Given the description of an element on the screen output the (x, y) to click on. 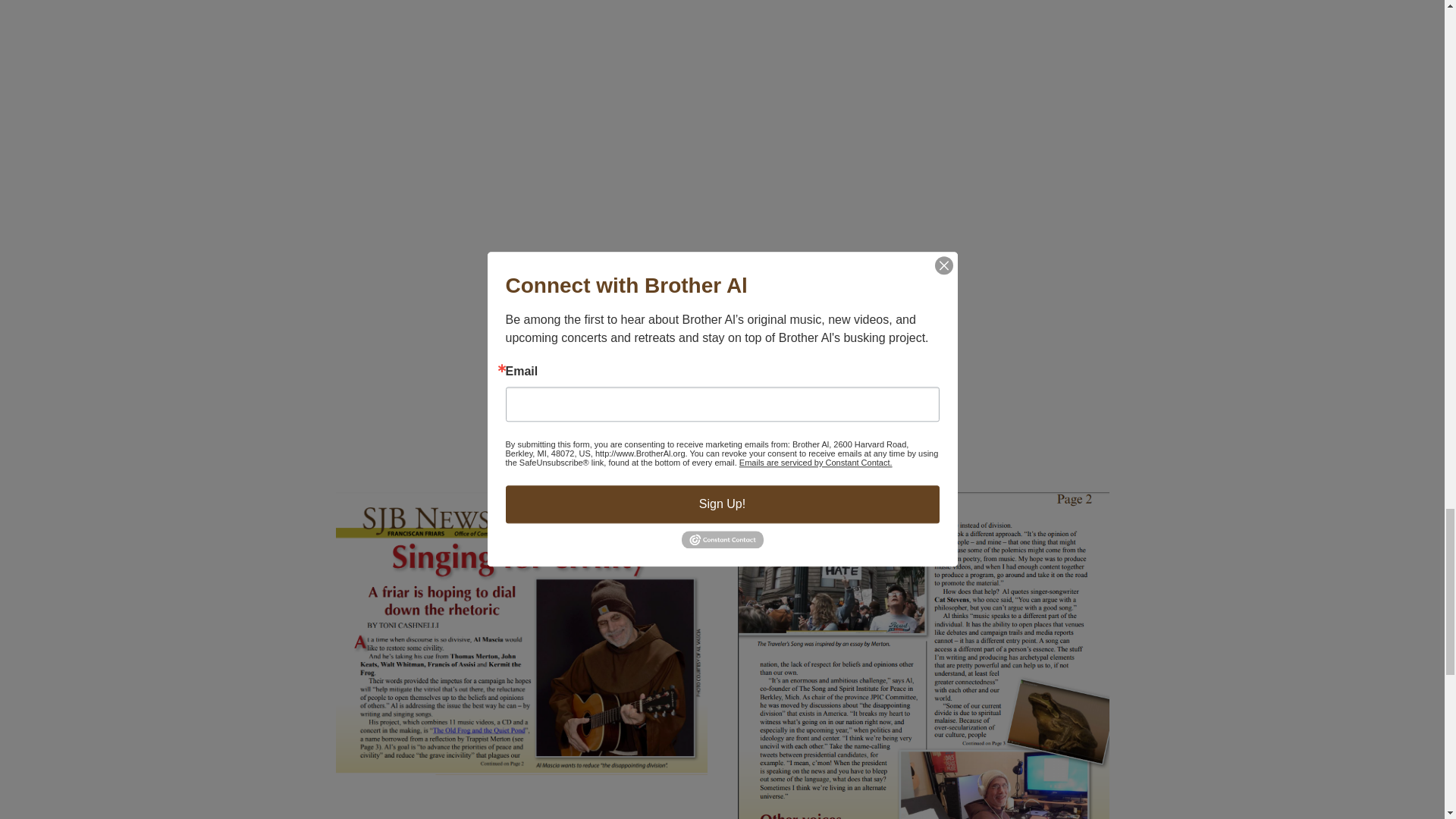
bro al sjb news2 (922, 655)
vimeo-player (346, 332)
bro al sjb news1 (520, 633)
